Given the description of an element on the screen output the (x, y) to click on. 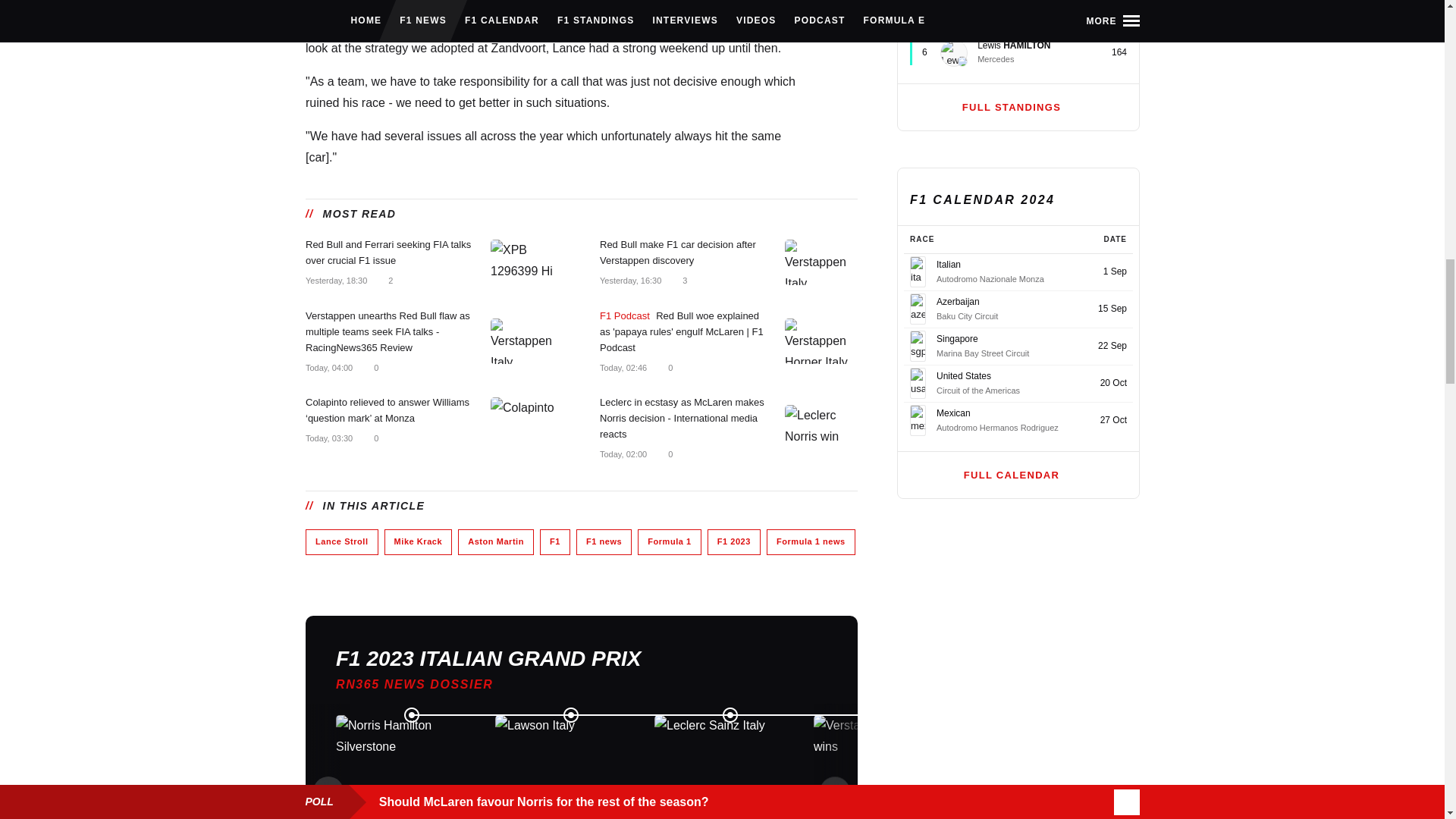
Monday 2 September 2024 at 18:30 (335, 280)
Tuesday 3 September 2024 at 02:46 (622, 367)
Tuesday 3 September 2024 at 03:30 (328, 438)
